Given the description of an element on the screen output the (x, y) to click on. 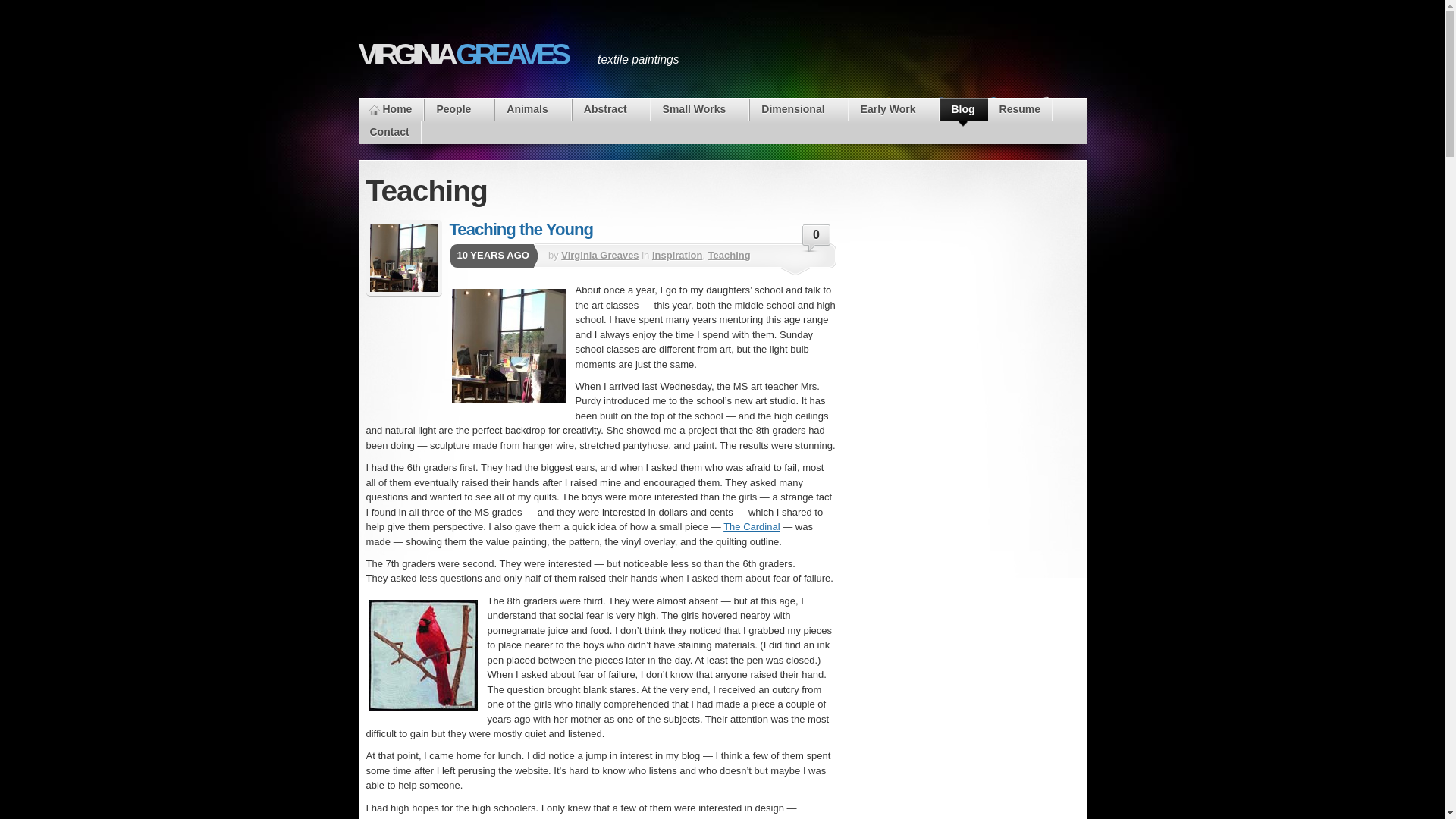
Email (1050, 120)
The Cardinal (750, 526)
People (459, 109)
Facebook Page (946, 120)
Teaching the Young (403, 257)
VIRGINIA GREAVES (462, 54)
Posts by Virginia Greaves  (599, 255)
Home Page (390, 109)
Home (390, 109)
Permanent Link: Teaching the Young (520, 229)
Twitter (998, 120)
RSS Feeds (893, 120)
Animals (532, 109)
